Given the description of an element on the screen output the (x, y) to click on. 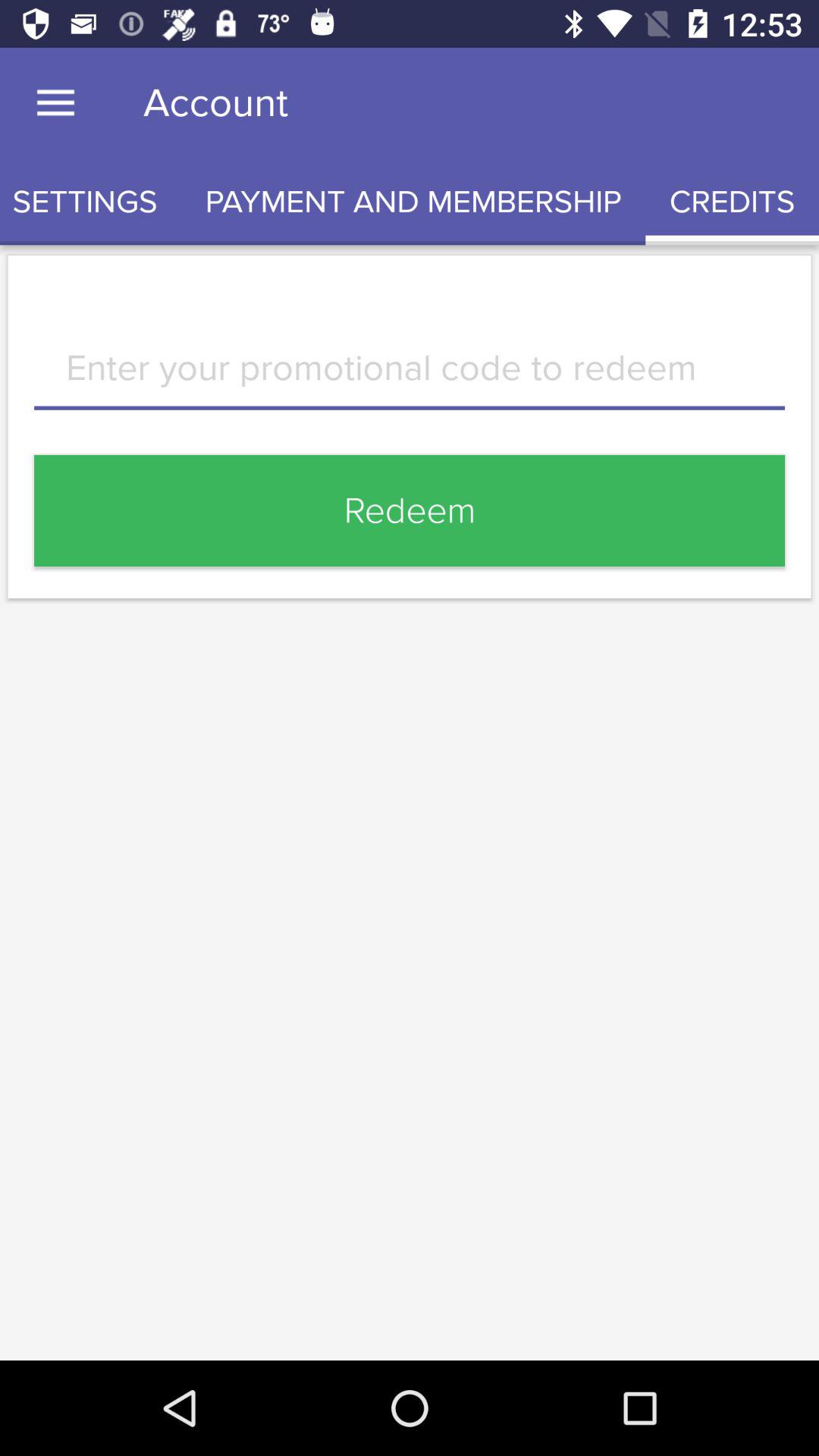
turn off item above redeem (409, 379)
